Given the description of an element on the screen output the (x, y) to click on. 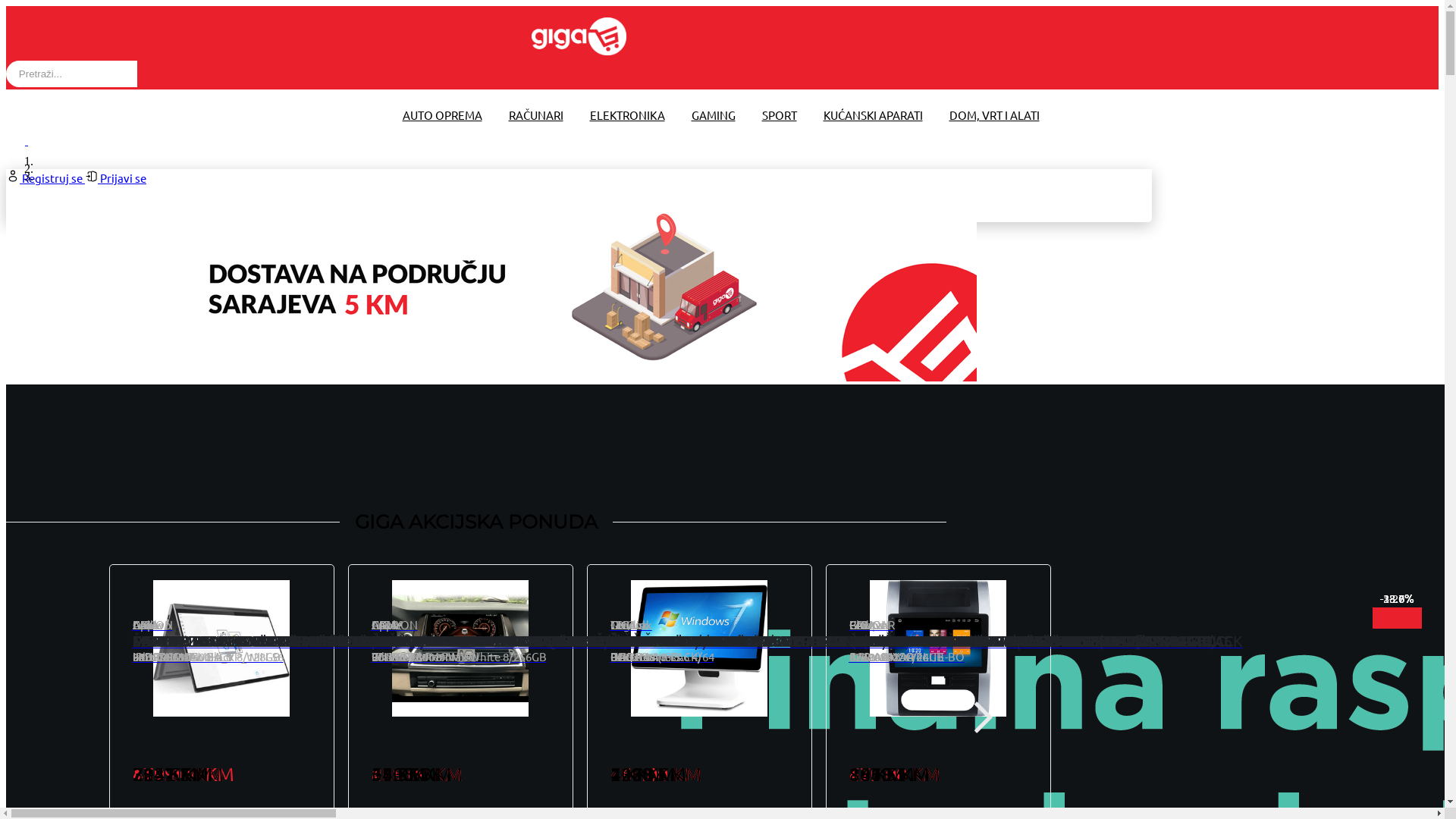
GIGA
BMW X3 E83 ANDROID MULTIMEDIJA GPS NAVIGACIJA Element type: text (560, 633)
GIGA
MERCEDES ML W164 ANDROID 9" MULTIMEDIJA Element type: text (298, 633)
GIGA
LAND ROVER FREELANDER ANDROID 9" MULTIMEDIJA Element type: text (800, 633)
AUTO OPREMA Element type: text (441, 114)
GIGA
LAND CRUISER ANDROID 9" MULTIMEDIJA 2010-2013 Element type: text (555, 633)
Prijavi se Element type: text (115, 177)
GIGA
NISSAN JUKE ANDROID 9" MULTIMEDIJA (2011-2016) Element type: text (1032, 633)
061 062 797 Element type: text (73, 109)
ELEKTRONIKA Element type: text (627, 114)
GIGA
TOYOTA AVENSIS ANDROID 9" MULTIMEDIJA 2009-2015 Element type: text (1040, 633)
AOC
MONITOR AOC 24B2XHM2 24" 1080P 75HZ VA HDMI VGA
24B2XHM2 Element type: text (329, 640)
Novus
KLAMERICE NOVUS 24/6 1000 KOMADA
040-0158 Element type: text (748, 640)
GIGA
NISSAN X-TRAIL ANDROID 9" MULTIMEDIJA 2008+ Element type: text (1021, 633)
GIGA
SEAT IBIZA ANDROID 9" MULTIMEDIJA Element type: text (263, 633)
GIGA
BMW F10 F11 4GB ANDROID MULTIMEDIA NAVIGACIJA
BMW 5 F10 Element type: text (560, 640)
GIGA
TOYOTA LAND CRUISER PRADO ANDROID 9" MULTIMEDIA Element type: text (571, 633)
GIGA
BMW X1 ANDROID 9" MULTIMEDIJA (2010-2016) Element type: text (776, 633)
GIGA
BMW 5 E39 E53 X5 ANDROID AUTO MULTIMEDIA Element type: text (1017, 633)
GAMING Element type: text (713, 114)
SPORT Element type: text (778, 114)
DOM, VRT I ALATI Element type: text (994, 114)
HP
TONER HP 136X CRNI ZA LJ M211/M236 ZA 2.600STR
W1360X Element type: text (554, 640)
GIGA
PEUGEOT 3008 ANDROID 9" MULTIMEDIJA 2013+ Element type: text (300, 633)
Registruj se Element type: text (45, 177)
CANON
RIBON CANON EP-102 INK RIBBON (1=12)
4202A002AA Element type: text (994, 640)
Philips
TRIMER PHILIPS BT3238\15 SERIES 3000
8720689021746 Element type: text (986, 640)
